Given the description of an element on the screen output the (x, y) to click on. 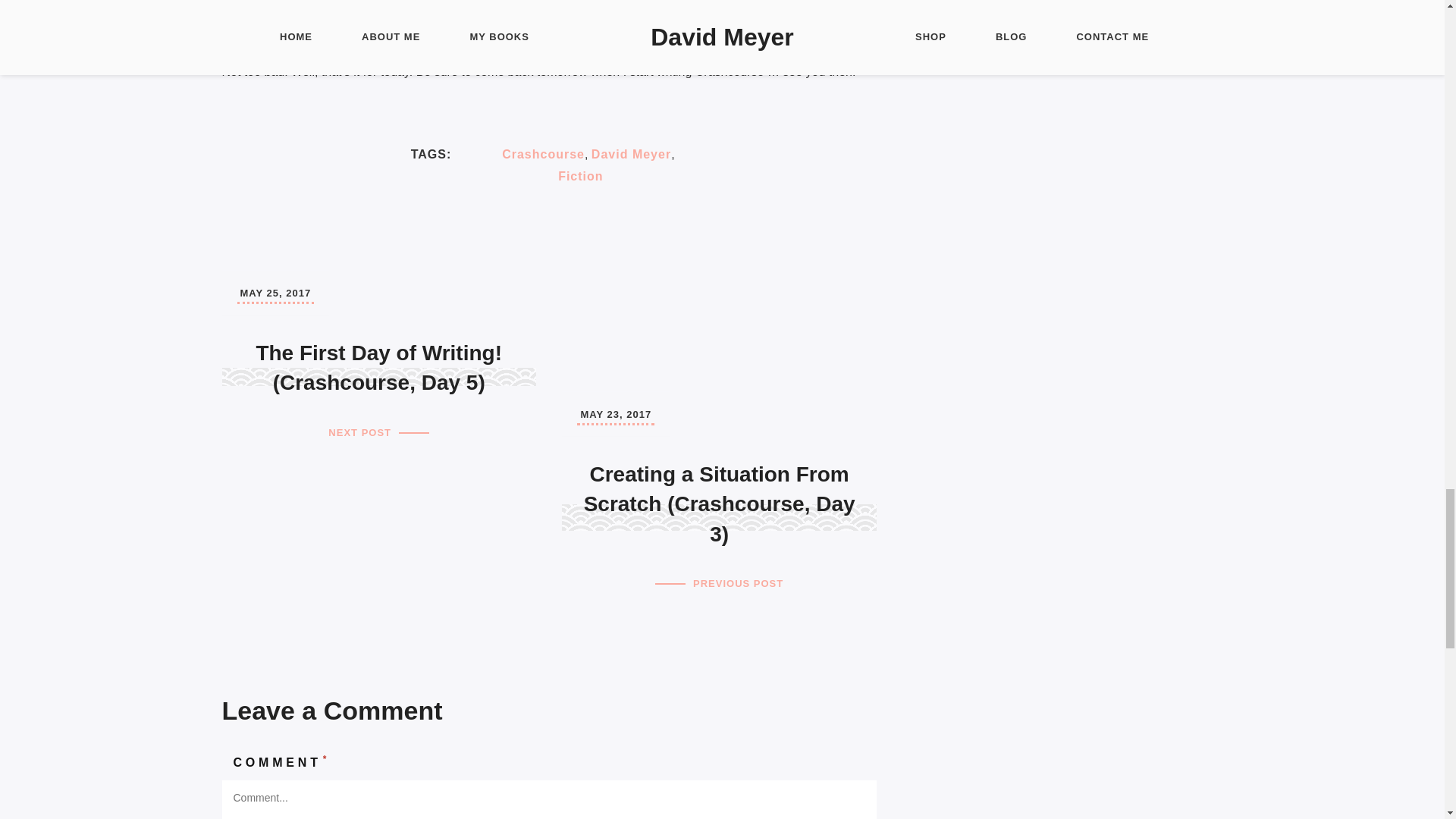
Crashcourse (543, 154)
Fiction (579, 175)
David Meyer (631, 154)
